Given the description of an element on the screen output the (x, y) to click on. 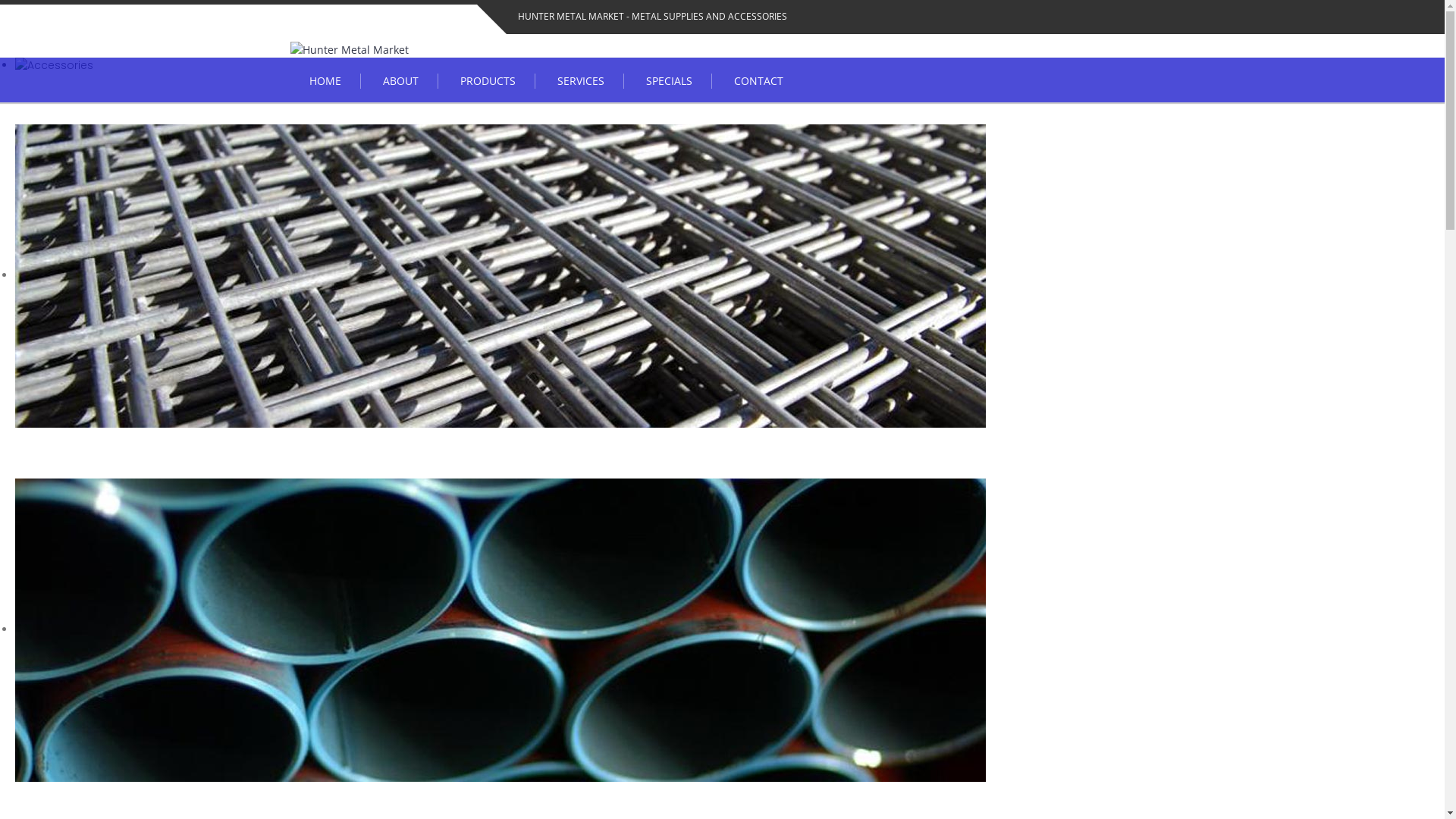
Steel Sections Element type: hover (500, 629)
ABOUT Element type: text (401, 80)
SPECIALS Element type: text (668, 80)
HOME Element type: text (324, 80)
Accessories Element type: hover (54, 65)
SERVICES Element type: text (581, 80)
PRODUCTS Element type: text (488, 80)
Rural & Dog Fencing Element type: hover (500, 275)
CONTACT Element type: text (757, 80)
